Given the description of an element on the screen output the (x, y) to click on. 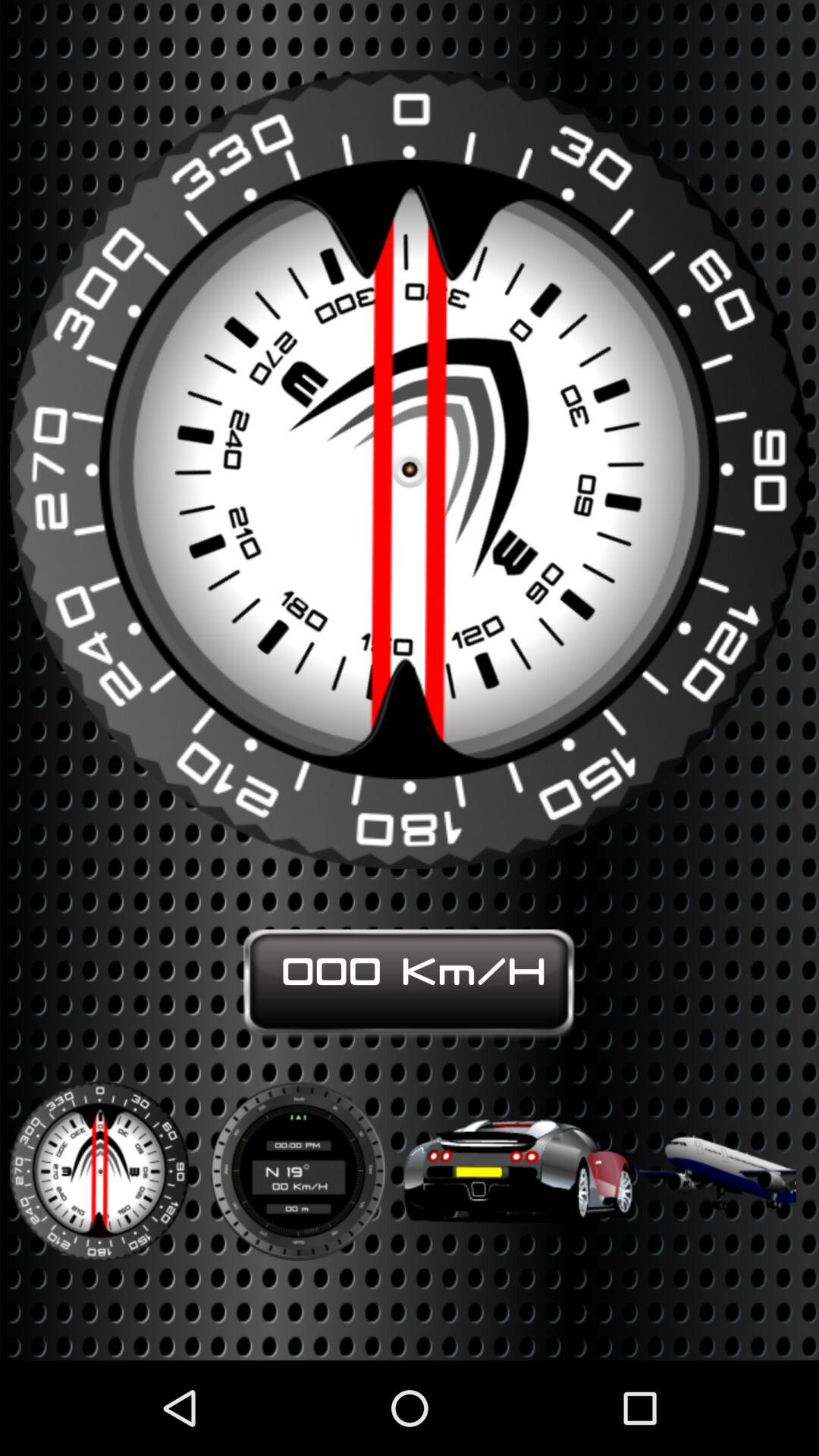
press the item at the bottom left corner (99, 1160)
